Given the description of an element on the screen output the (x, y) to click on. 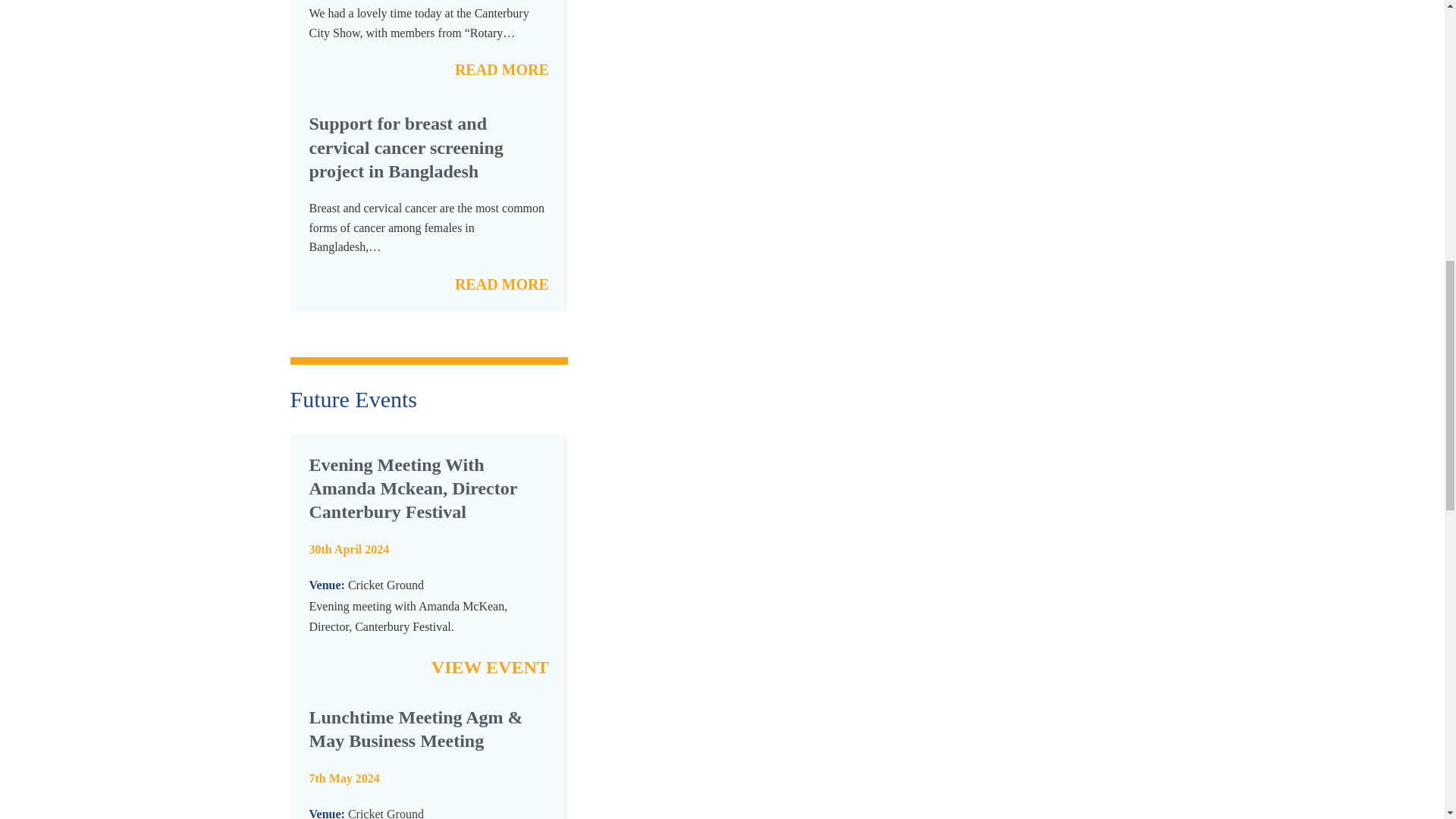
READ MORE (501, 69)
READ MORE (501, 284)
